Given the description of an element on the screen output the (x, y) to click on. 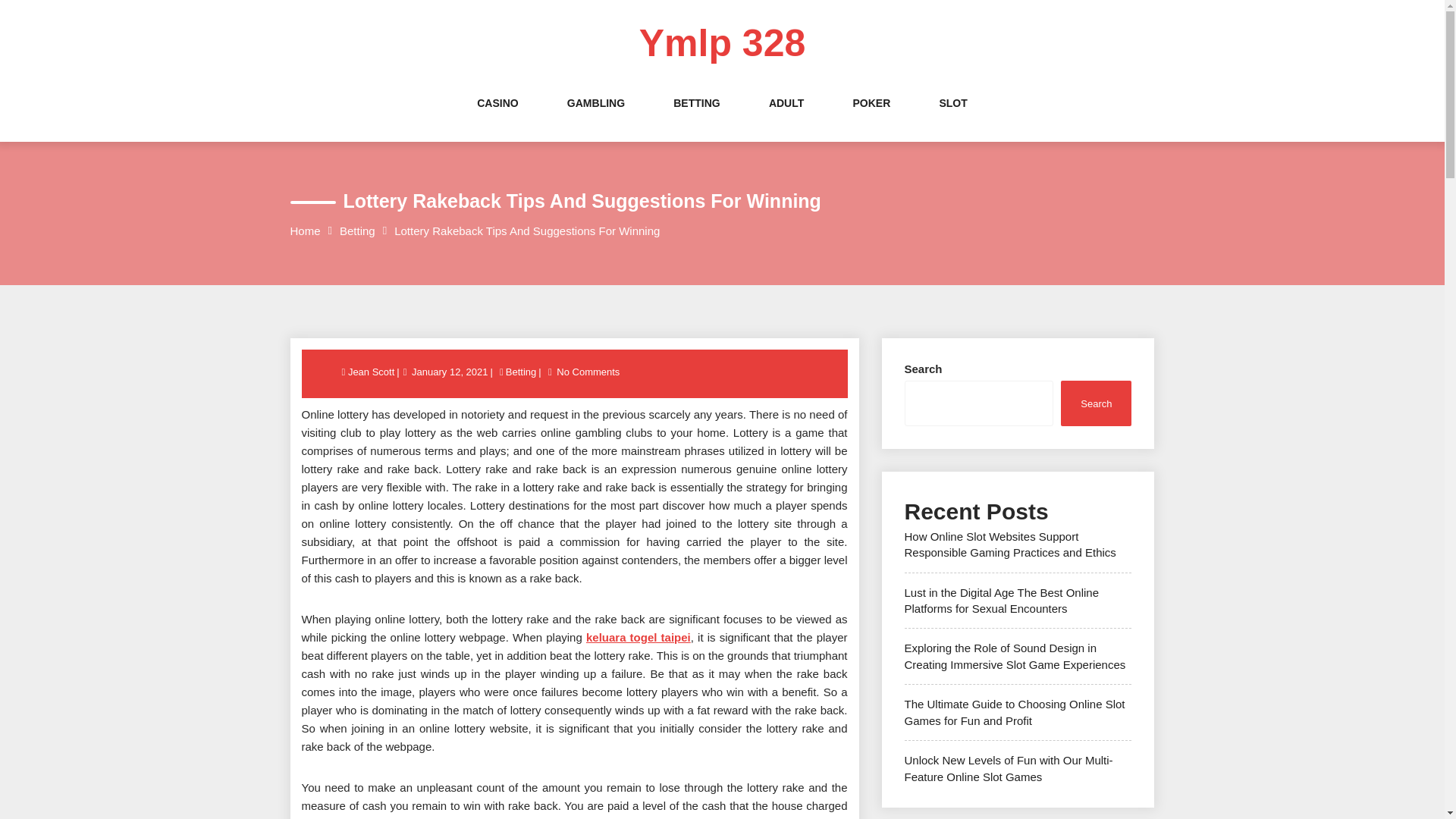
CASINO (497, 118)
Betting (520, 371)
Home (304, 230)
No Comments (587, 371)
keluara togel taipei (638, 636)
BETTING (695, 118)
Jean Scott (371, 371)
Ymlp 328 (722, 43)
Search (1096, 402)
January 12, 2021 (449, 371)
Betting (357, 230)
